Given the description of an element on the screen output the (x, y) to click on. 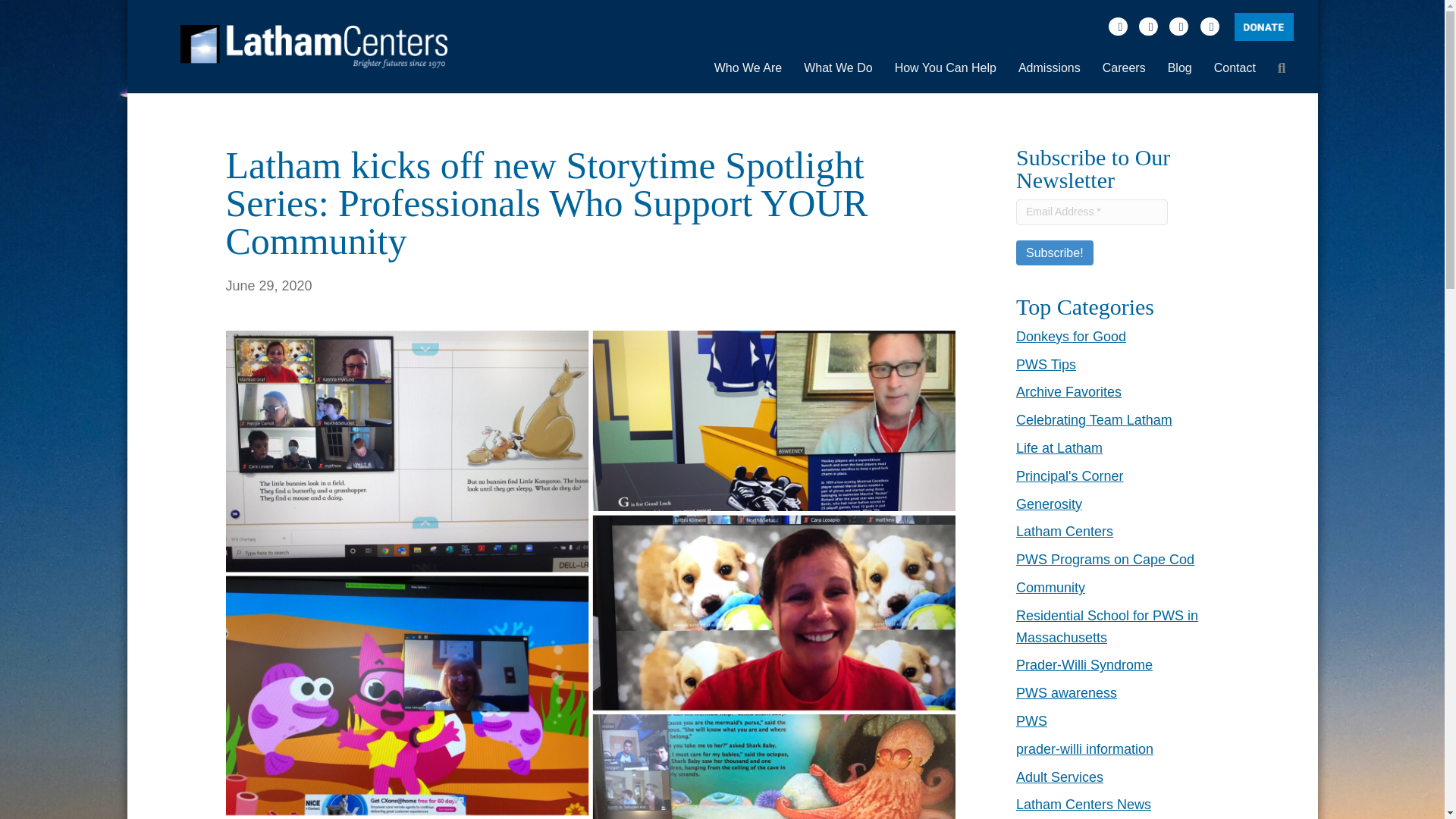
Subscribe! (1054, 252)
Admissions (1048, 67)
How You Can Help (945, 67)
Careers (1124, 67)
Email Address (1091, 212)
Who We Are (748, 67)
What We Do (837, 67)
